Given the description of an element on the screen output the (x, y) to click on. 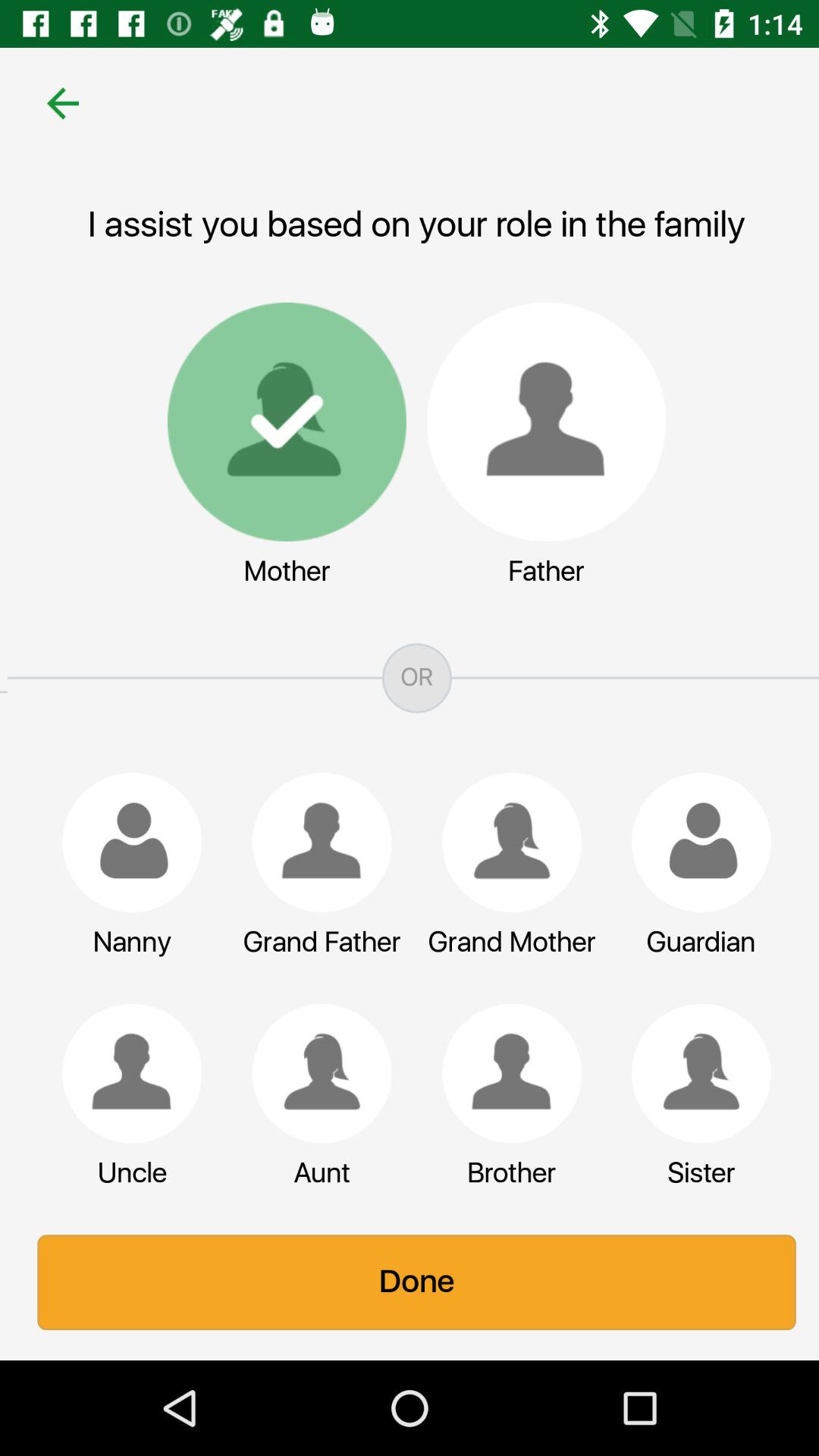
go back (55, 103)
